Given the description of an element on the screen output the (x, y) to click on. 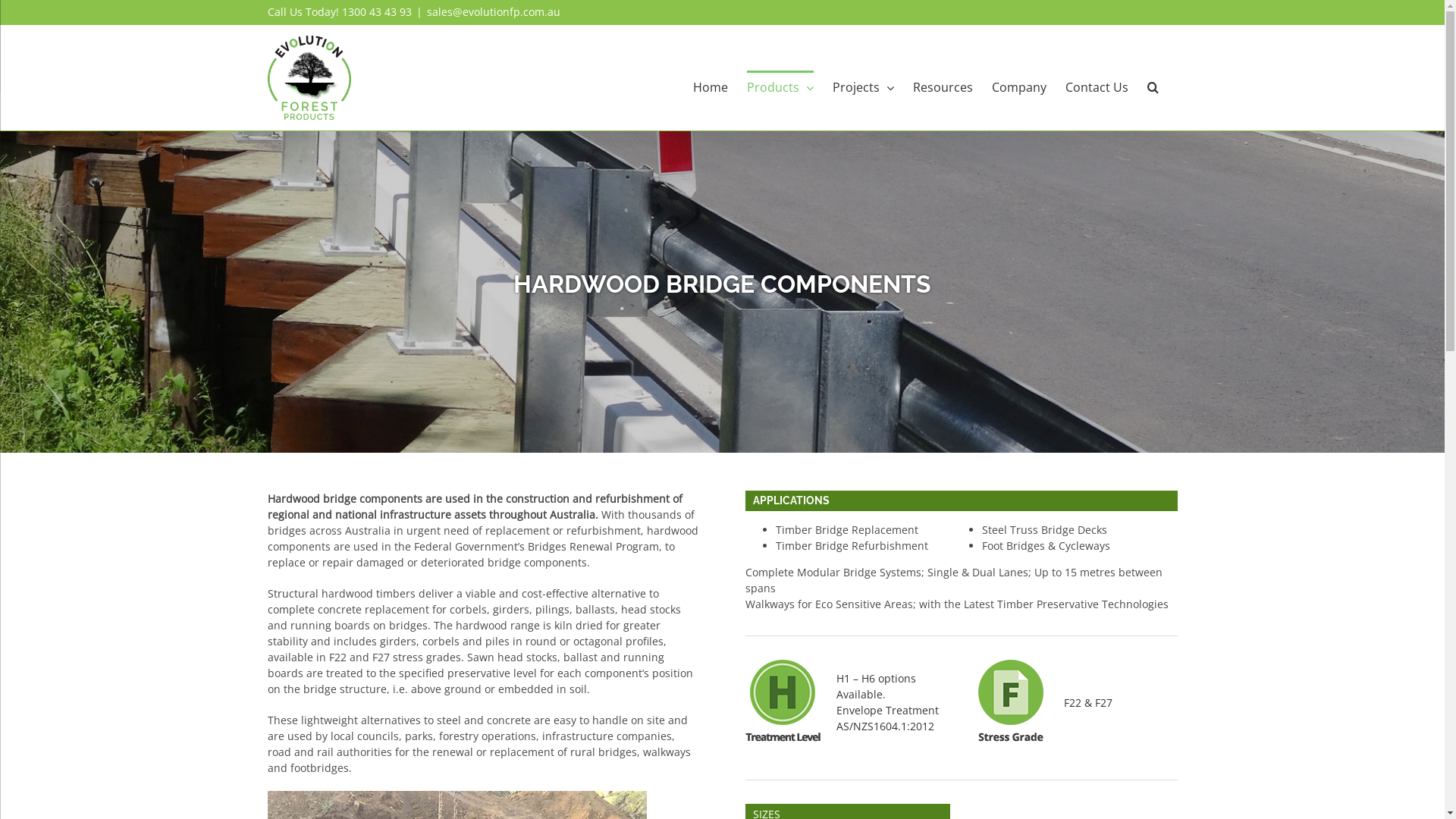
Resources Element type: text (942, 85)
Projects Element type: text (863, 85)
Products Element type: text (779, 85)
Company Element type: text (1018, 85)
sales@evolutionfp.com.au Element type: text (492, 11)
Search Element type: hover (1151, 85)
Home Element type: text (710, 85)
Contact Us Element type: text (1095, 85)
